Given the description of an element on the screen output the (x, y) to click on. 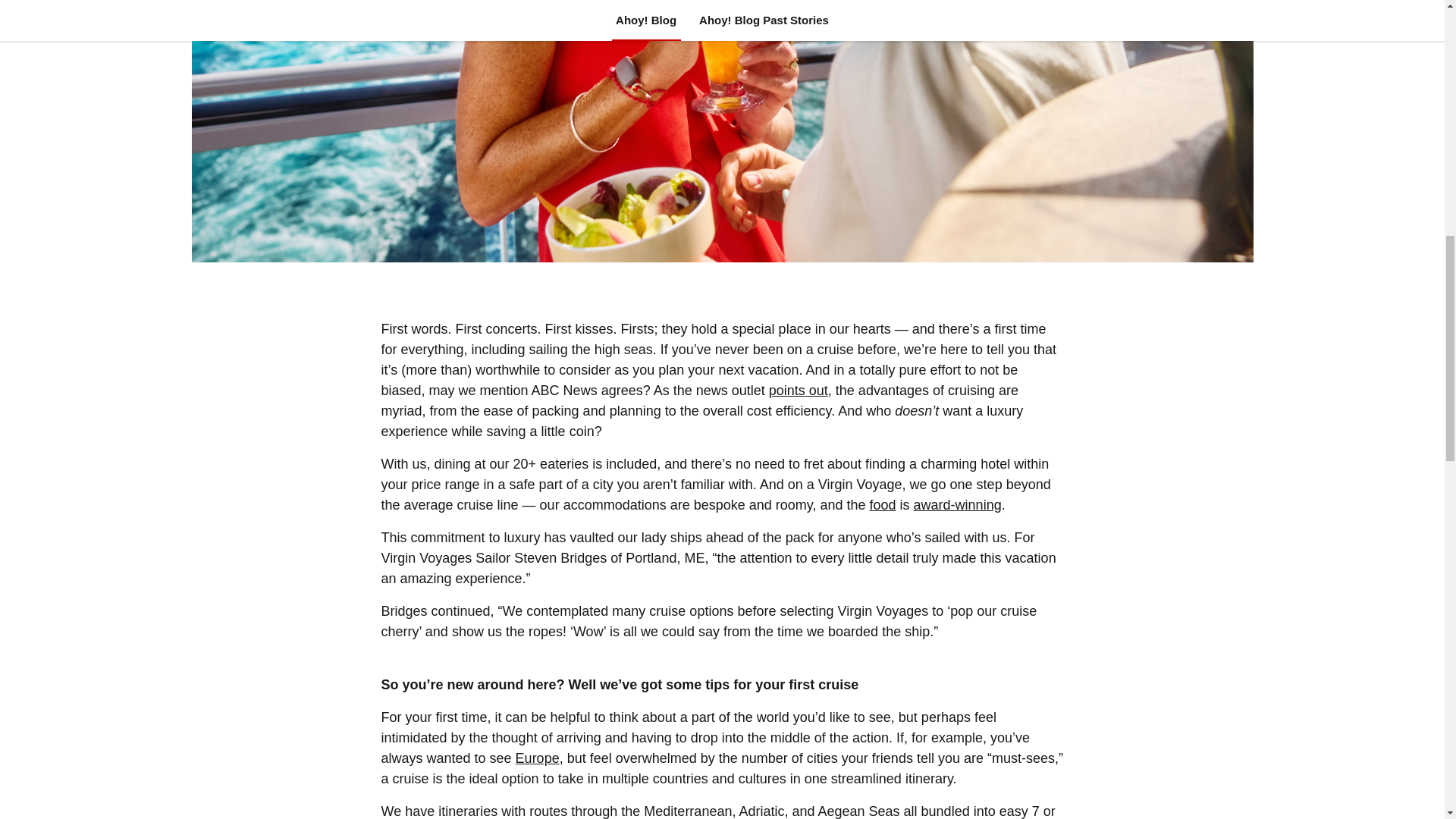
award-winning (957, 504)
Europe (537, 758)
food (882, 504)
points out (798, 390)
